Given the description of an element on the screen output the (x, y) to click on. 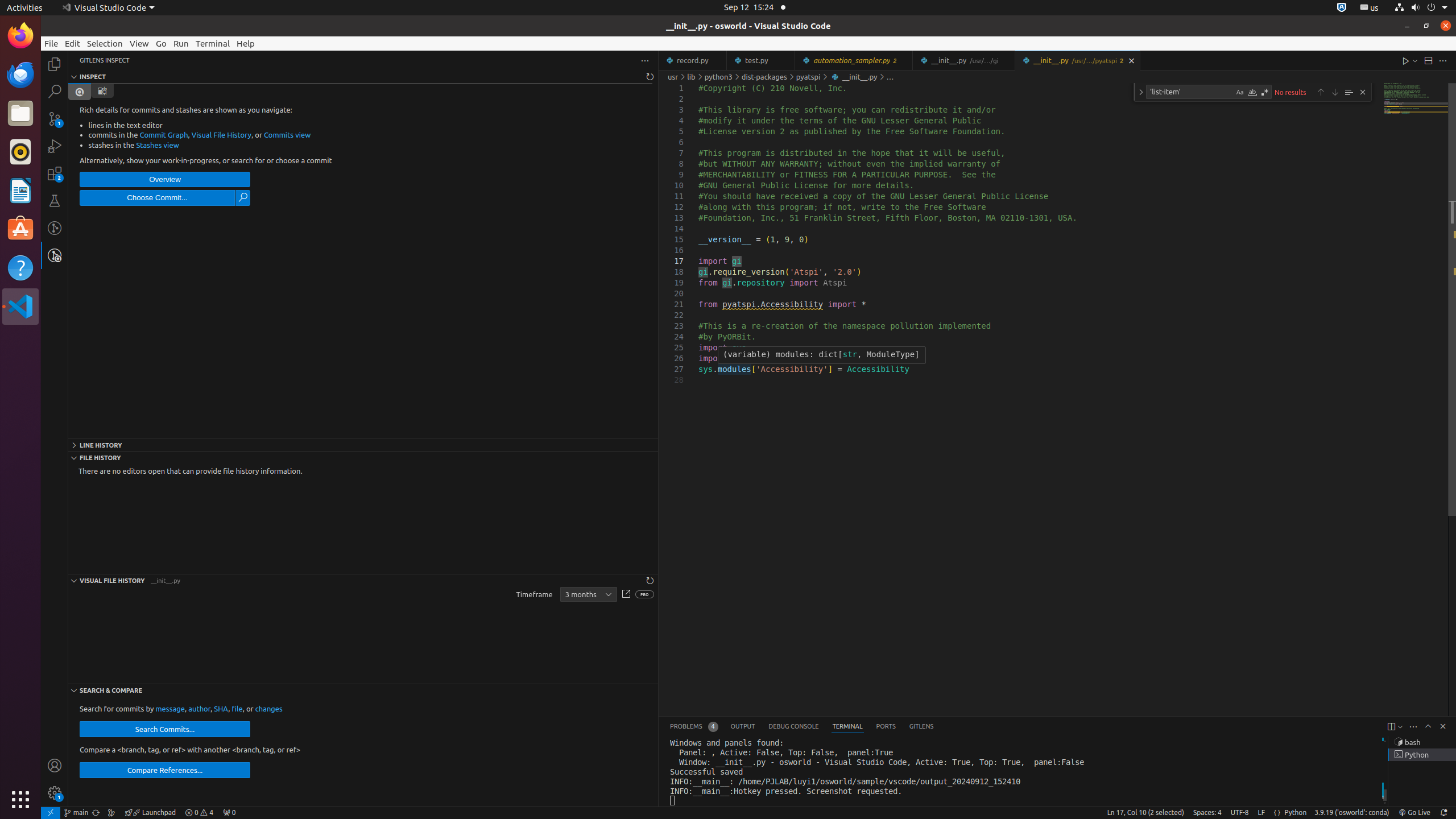
Stashes view Element type: link (157, 144)
More Actions... Element type: push-button (1442, 60)
Launch Profile... Element type: push-button (1399, 726)
Debug Console (Ctrl+Shift+Y) Element type: page-tab (793, 726)
 Element type: push-button (102, 90)
